Given the description of an element on the screen output the (x, y) to click on. 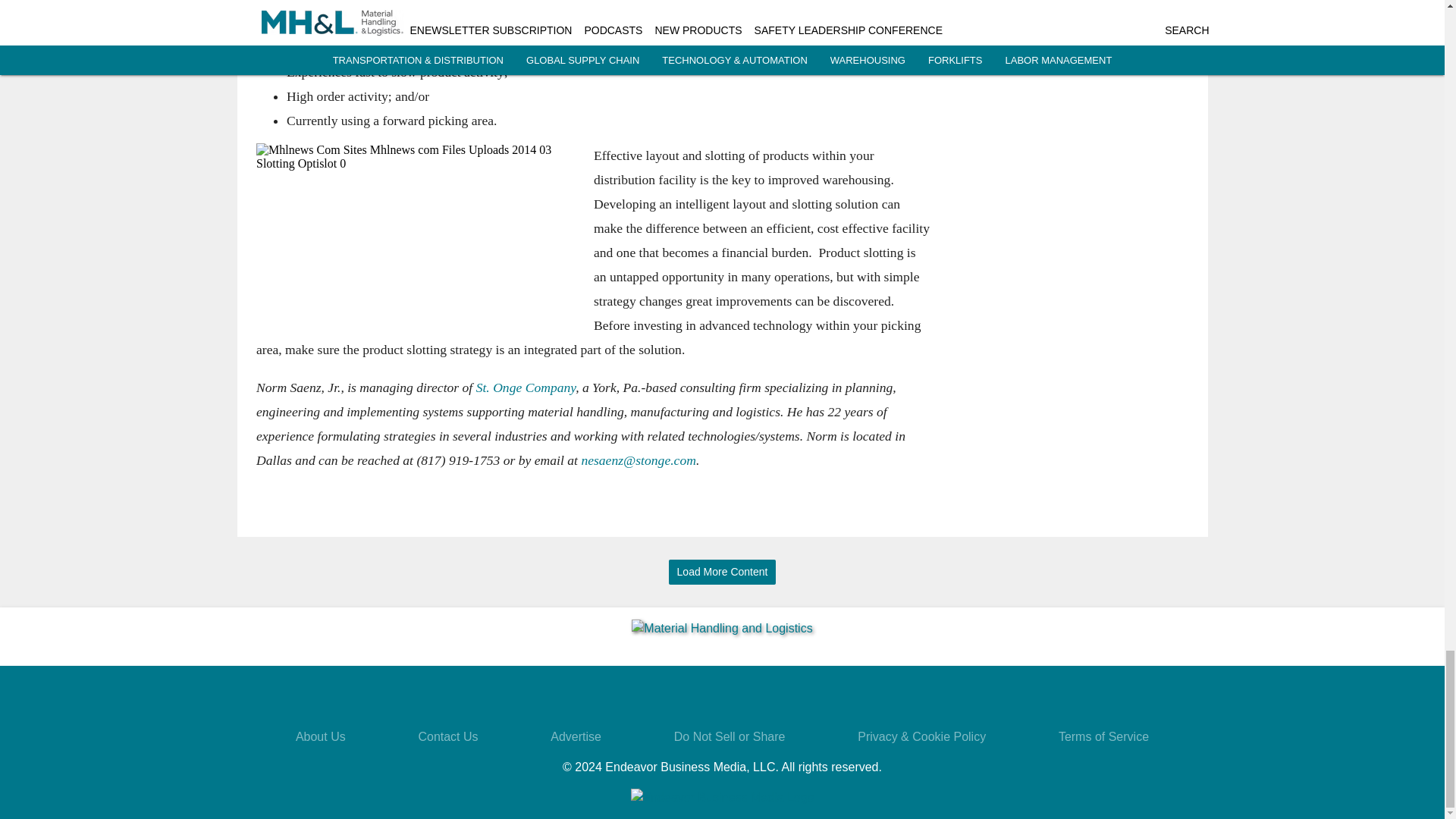
Load More Content (722, 571)
St. Onge Company (525, 387)
About Us (320, 736)
Contact Us (447, 736)
